Given the description of an element on the screen output the (x, y) to click on. 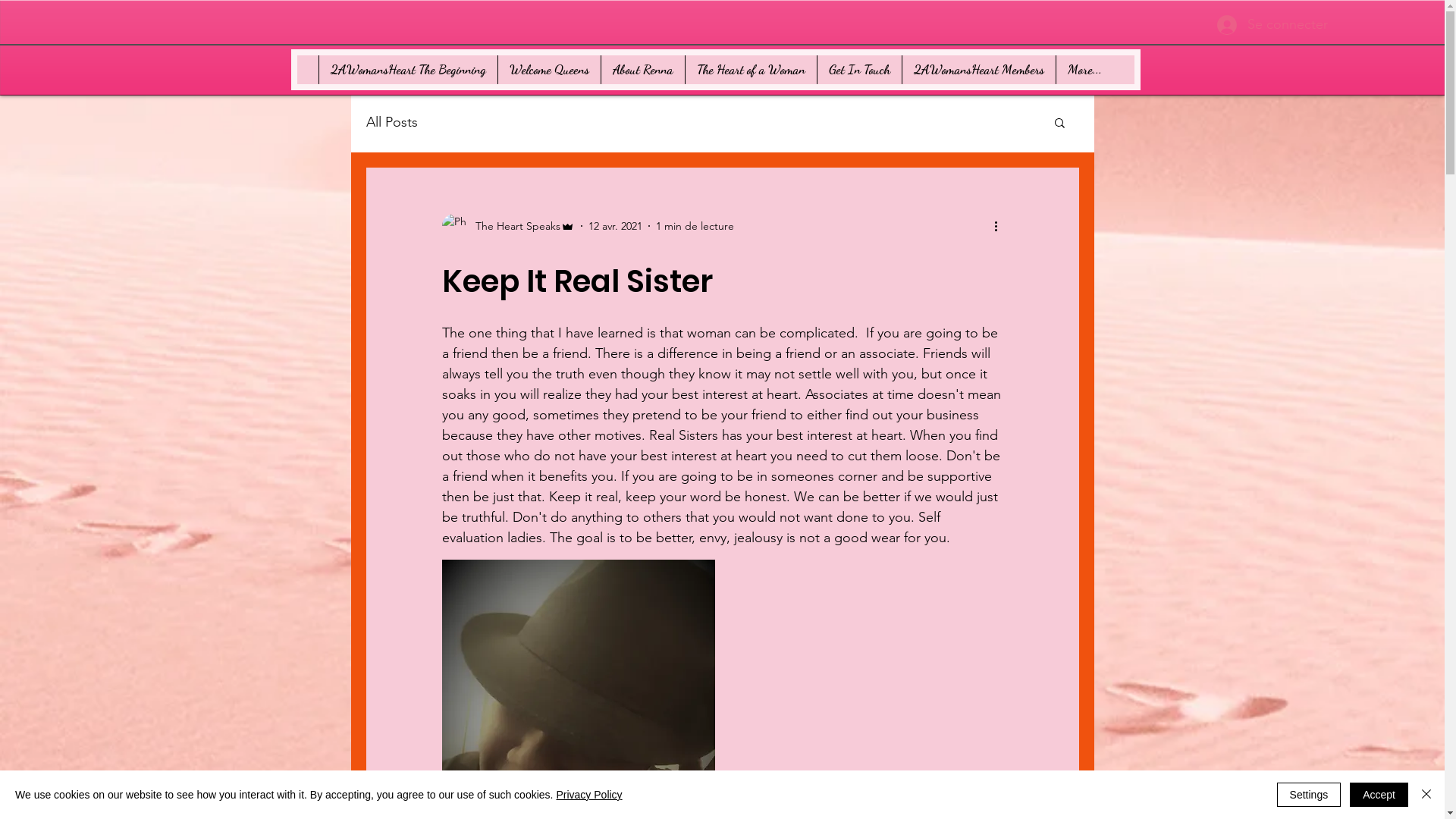
Accept Element type: text (1378, 794)
The Heart Speaks Element type: text (507, 225)
2AWomansHeart The Beginning Element type: text (407, 69)
Privacy Policy Element type: text (588, 794)
Get In Touch Element type: text (857, 69)
All Posts Element type: text (391, 121)
2AWomansHeart Members Element type: text (977, 69)
About Renna Element type: text (642, 69)
Settings Element type: text (1309, 794)
The Heart of a Woman Element type: text (749, 69)
Se connecter Element type: text (1250, 24)
Welcome Queens Element type: text (548, 69)
